Given the description of an element on the screen output the (x, y) to click on. 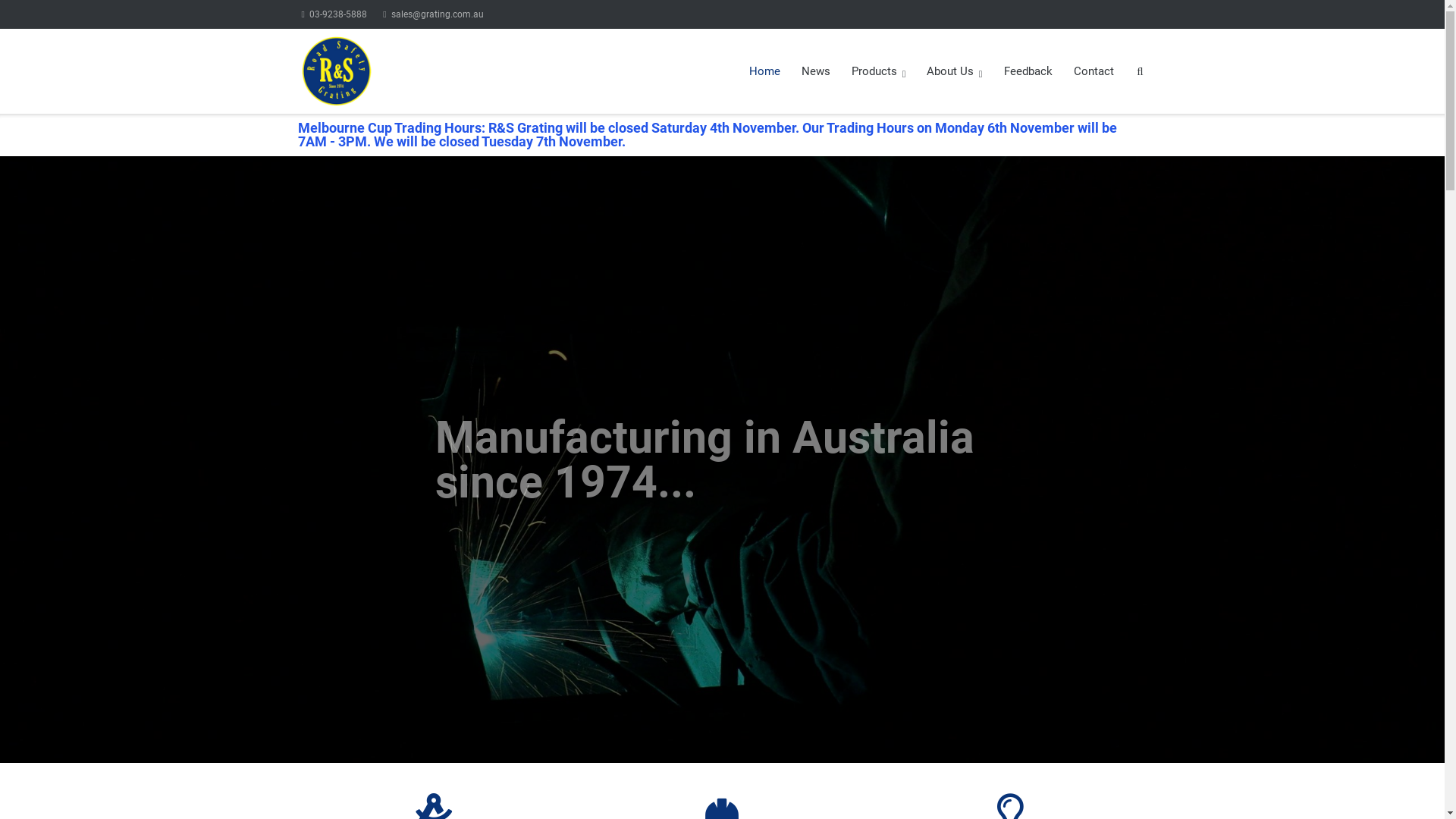
03-9238-5888 Element type: text (334, 14)
About Us Element type: text (954, 70)
Contact Element type: text (1093, 70)
News Element type: text (815, 70)
Home Element type: text (764, 70)
sales@grating.com.au Element type: text (432, 14)
Feedback Element type: text (1028, 70)
Products Element type: text (878, 70)
